Given the description of an element on the screen output the (x, y) to click on. 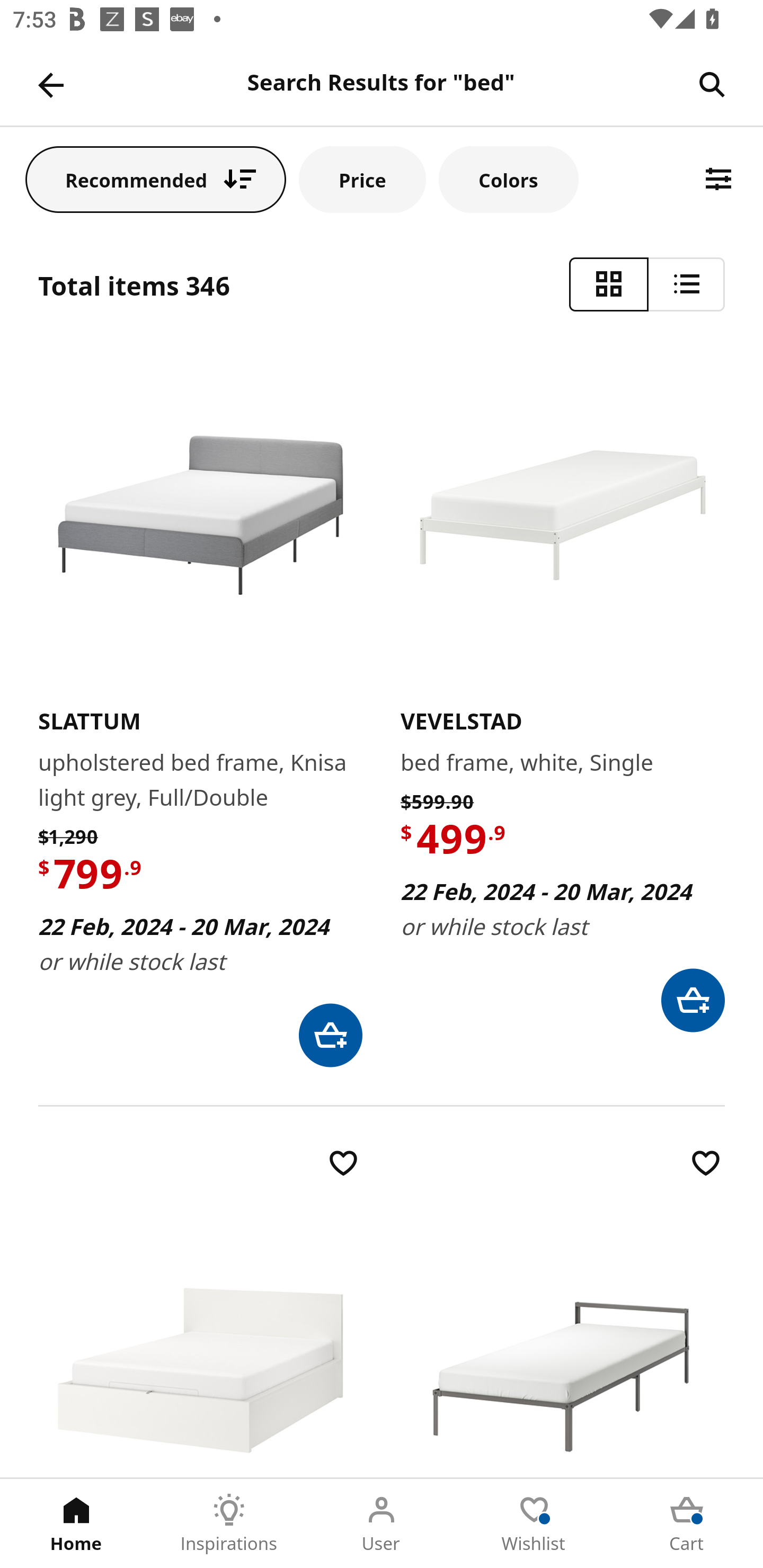
Recommended (155, 179)
Price (362, 179)
Colors (508, 179)
Home
Tab 1 of 5 (76, 1522)
Inspirations
Tab 2 of 5 (228, 1522)
User
Tab 3 of 5 (381, 1522)
Wishlist
Tab 4 of 5 (533, 1522)
Cart
Tab 5 of 5 (686, 1522)
